Given the description of an element on the screen output the (x, y) to click on. 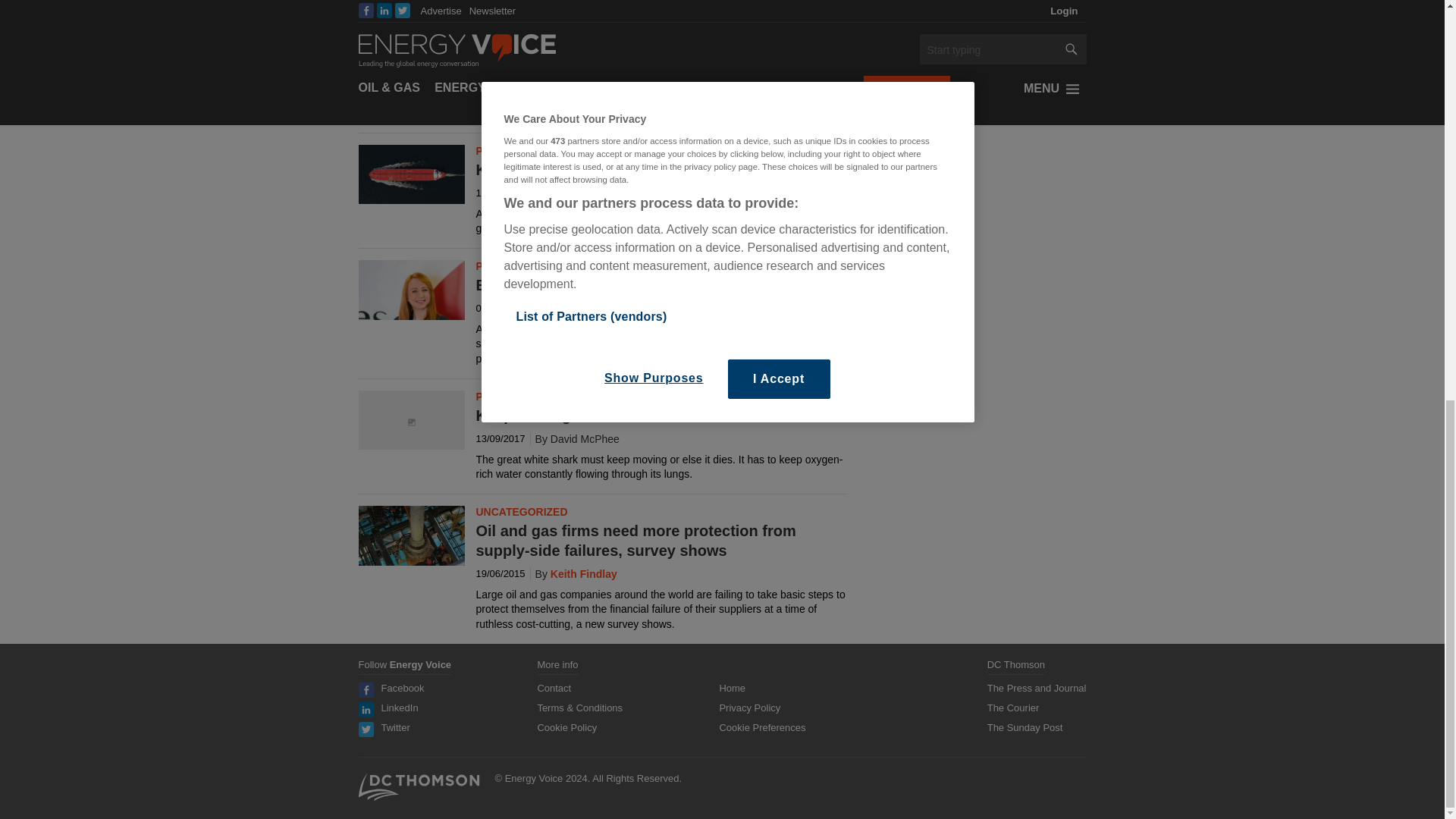
Keep moving to attract Millennials (411, 422)
Key 2020 trends for the oil and gas sector (411, 174)
Achilles: Cutting costs for oil and gas suppliers (411, 29)
Benchmarking and beyond with Achilles (411, 304)
Keith Findlay (573, 573)
